Given the description of an element on the screen output the (x, y) to click on. 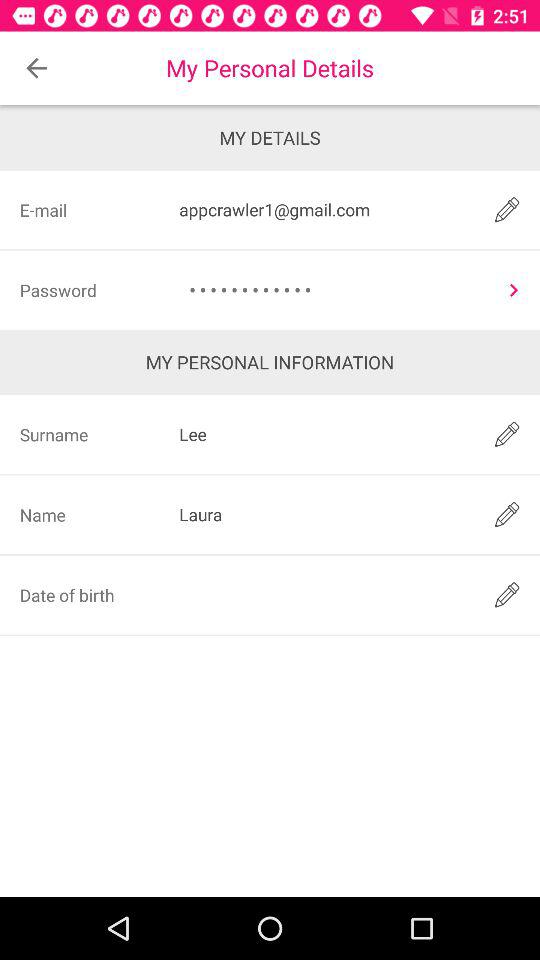
launch the item above my details (36, 68)
